Given the description of an element on the screen output the (x, y) to click on. 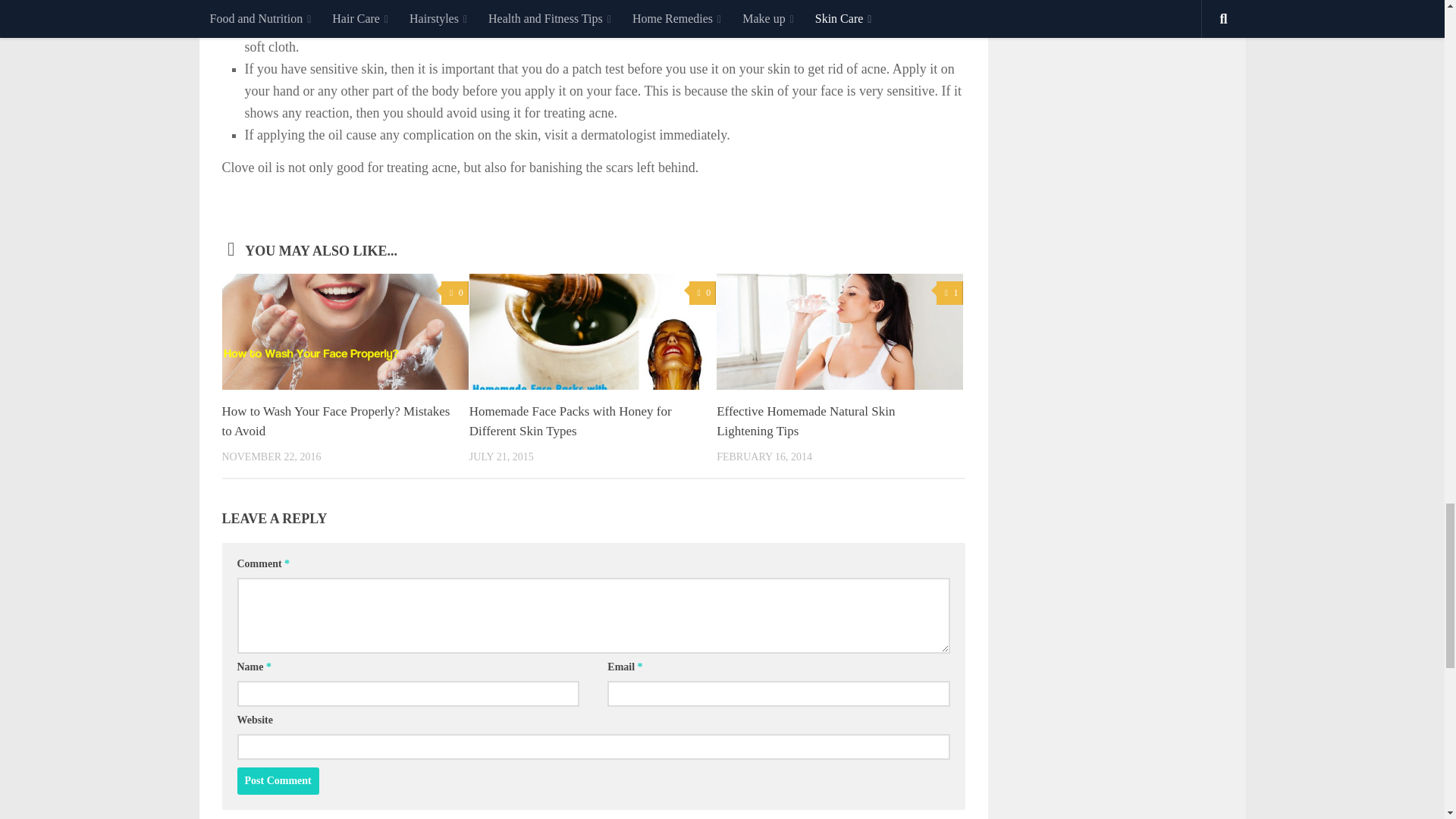
Post Comment (276, 780)
